Given the description of an element on the screen output the (x, y) to click on. 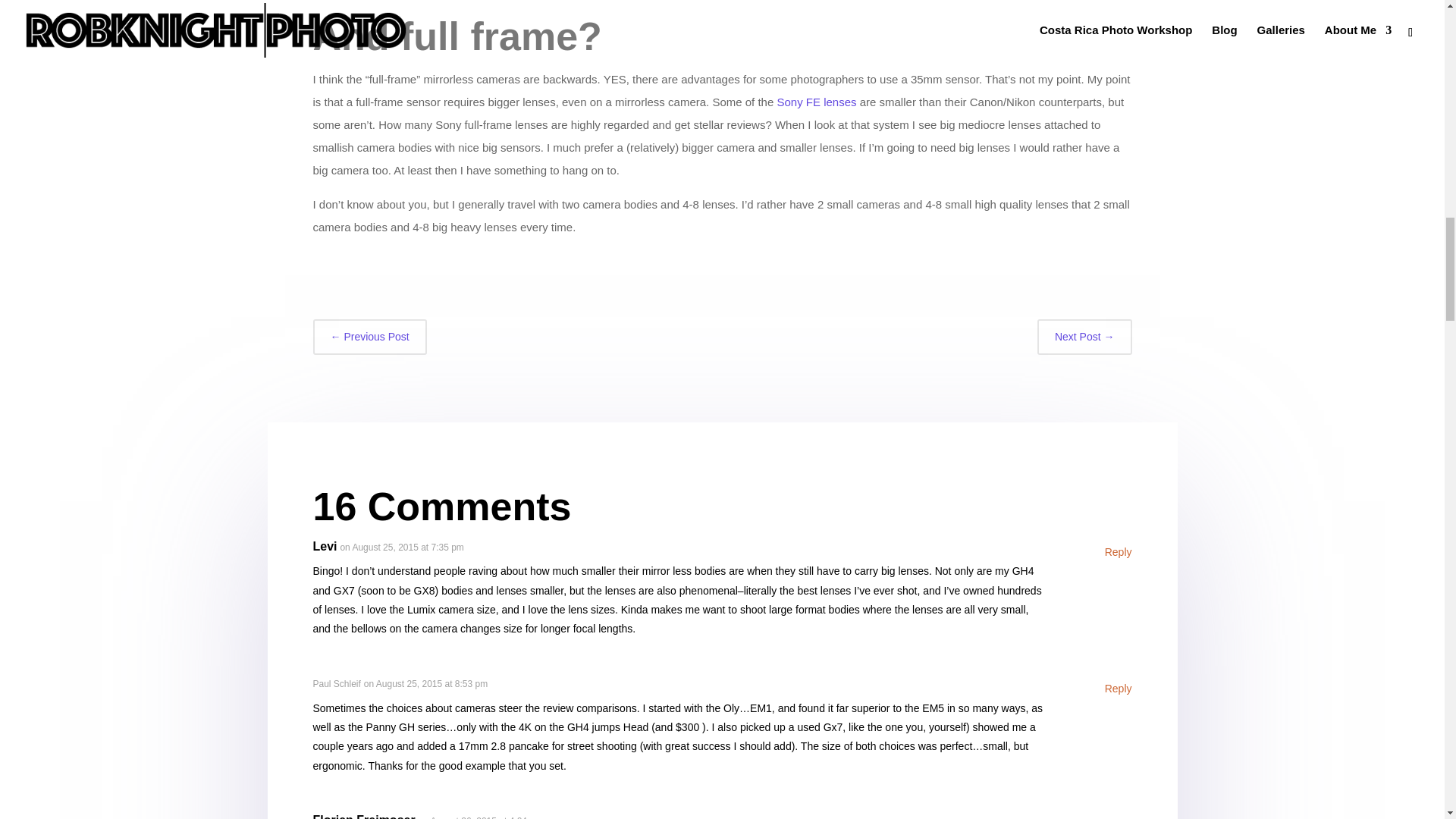
Reply (1118, 689)
Levi (324, 545)
Florian Freimoser (363, 816)
Sony FE lenses (816, 101)
Reply (1118, 552)
Reply (1118, 818)
